Given the description of an element on the screen output the (x, y) to click on. 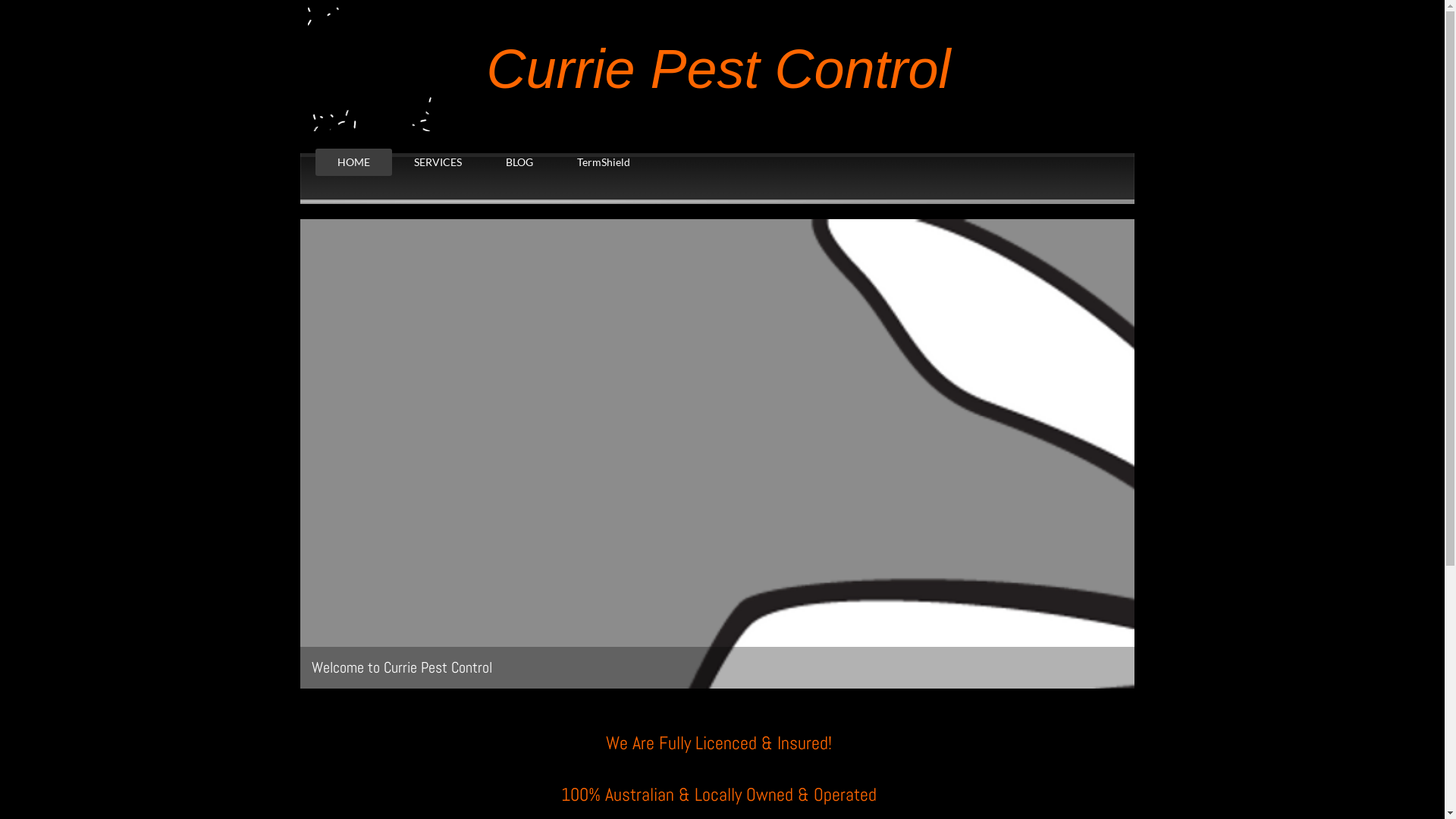
TermShield Element type: text (603, 161)
SERVICES Element type: text (437, 161)
BLOG Element type: text (519, 161)
HOME Element type: text (353, 161)
